Given the description of an element on the screen output the (x, y) to click on. 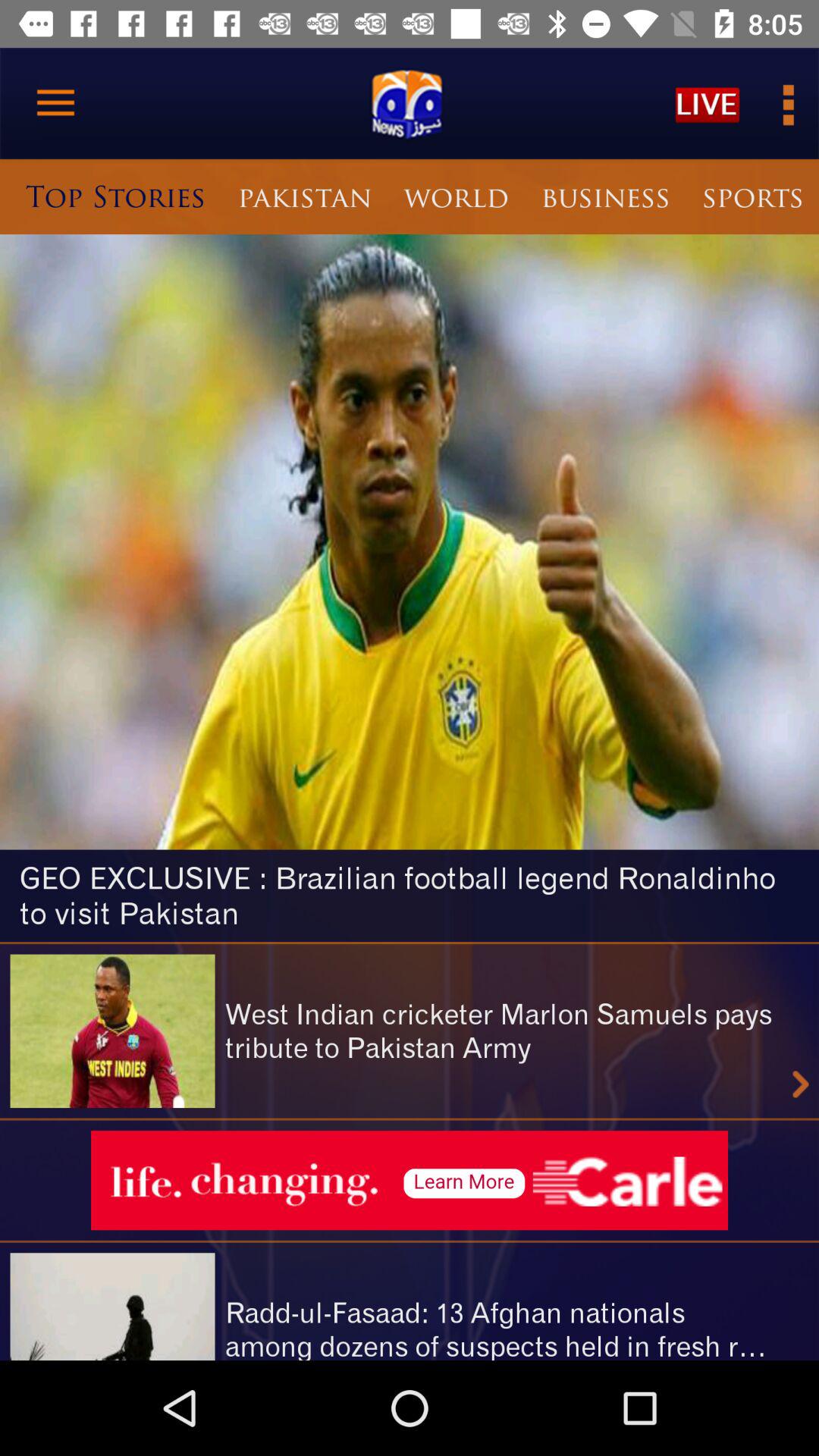
click to the more details (787, 103)
